Given the description of an element on the screen output the (x, y) to click on. 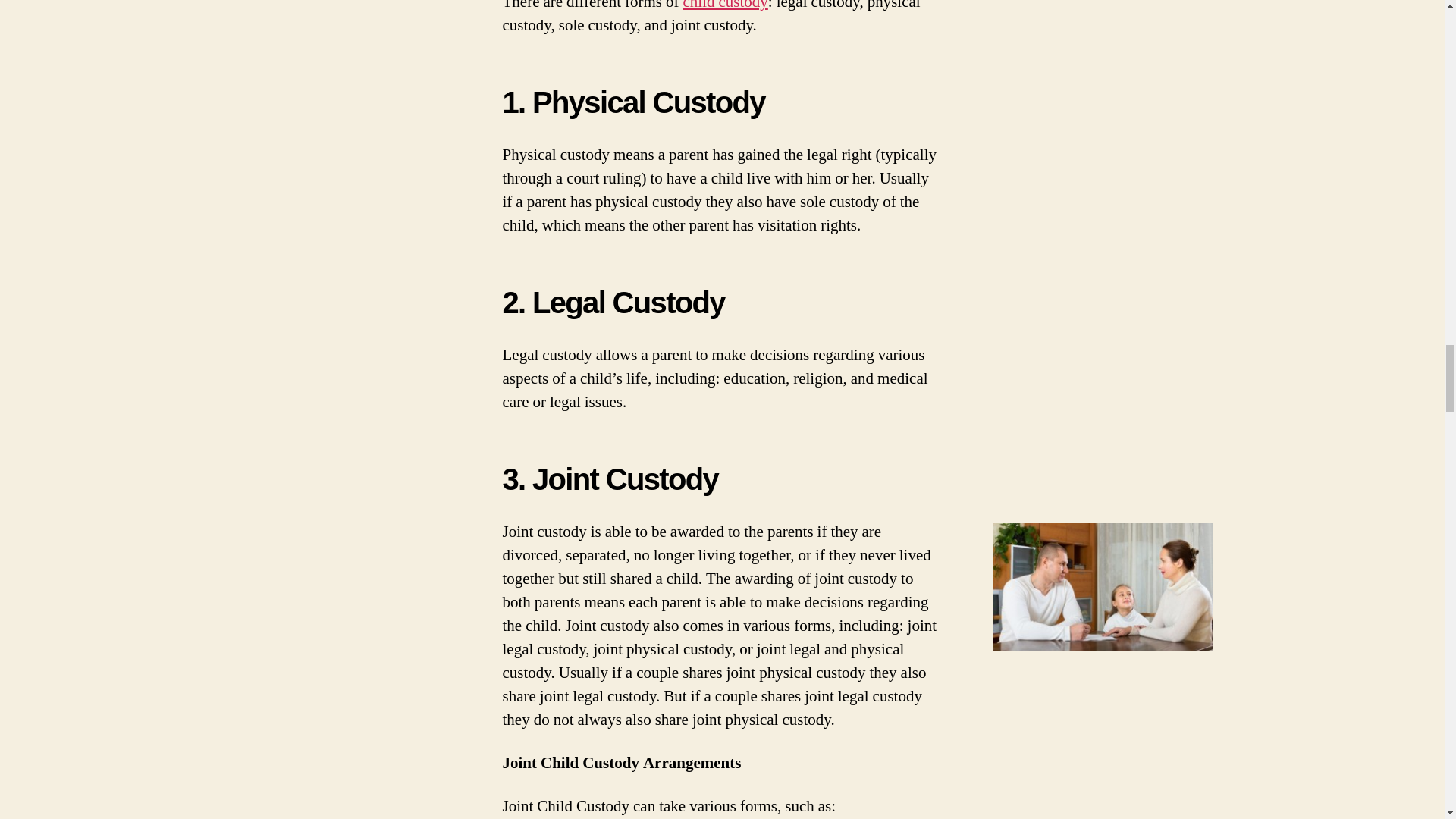
child custody (724, 6)
Pasadena Child Custody Lawyer (724, 6)
